Given the description of an element on the screen output the (x, y) to click on. 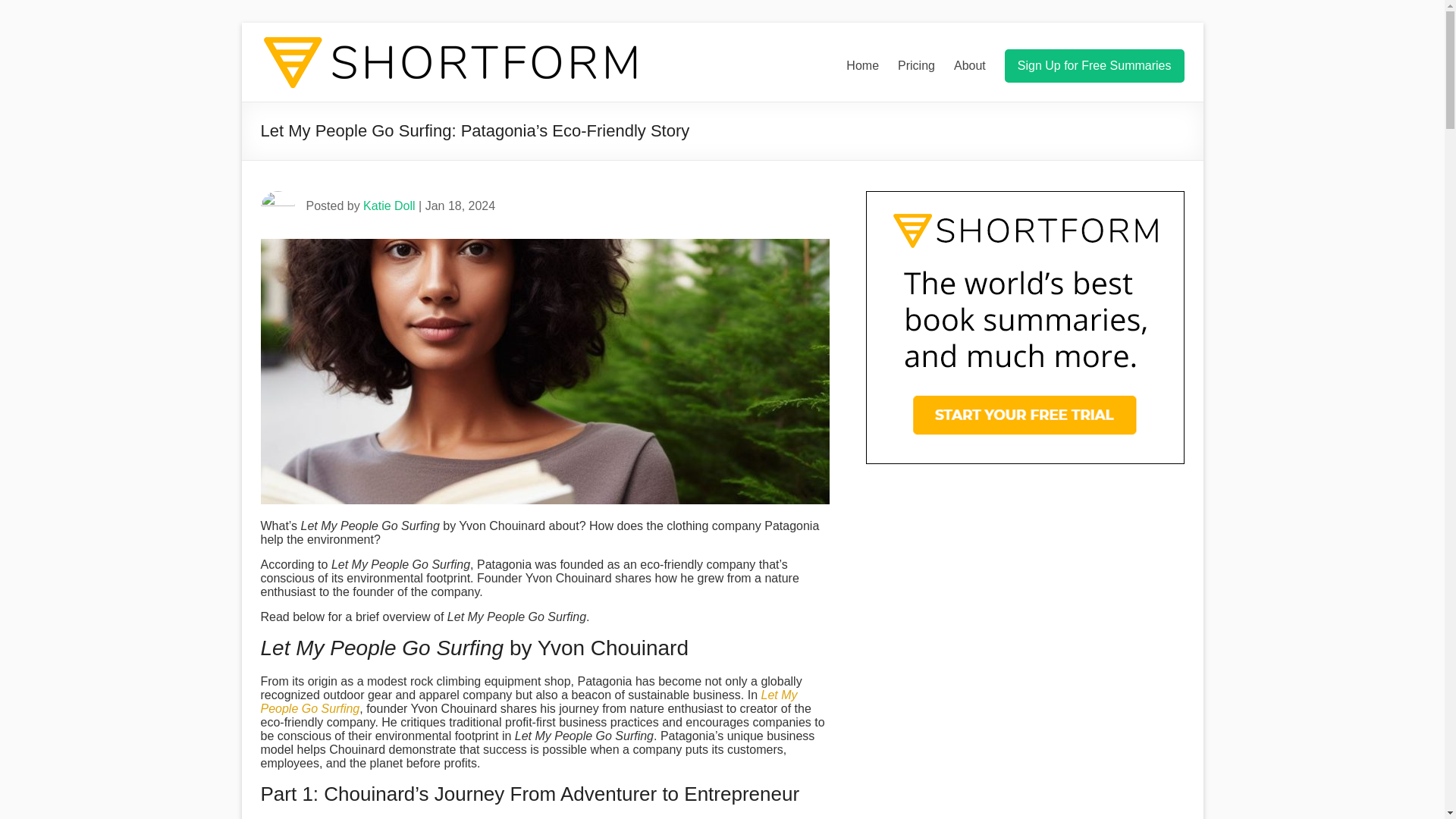
Home (862, 65)
Sign Up for Free Summaries (1094, 65)
Let My People Go Surfing (528, 701)
Katie Doll (388, 205)
Pricing (916, 65)
About (969, 65)
